Given the description of an element on the screen output the (x, y) to click on. 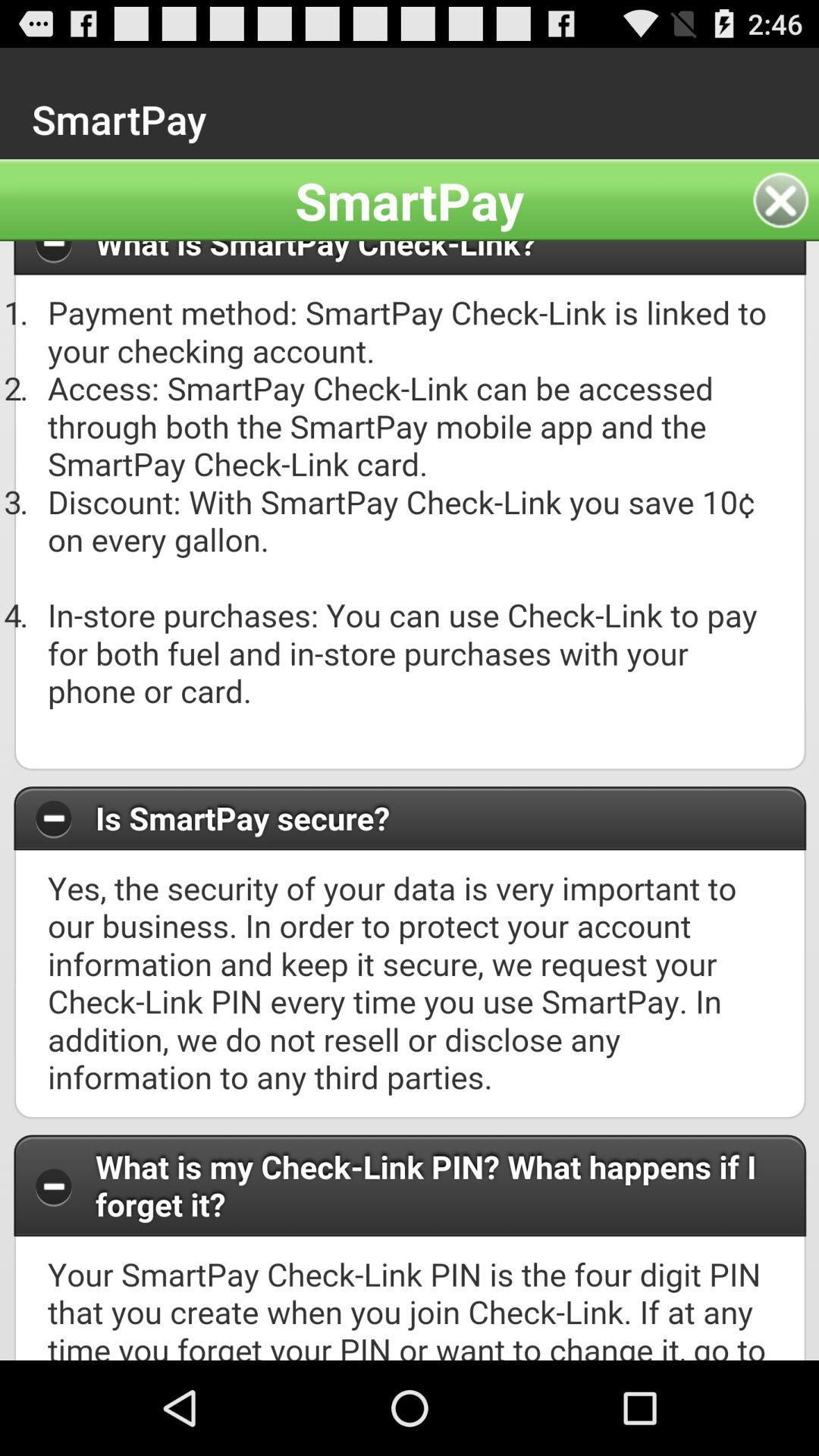
close page (786, 200)
